Given the description of an element on the screen output the (x, y) to click on. 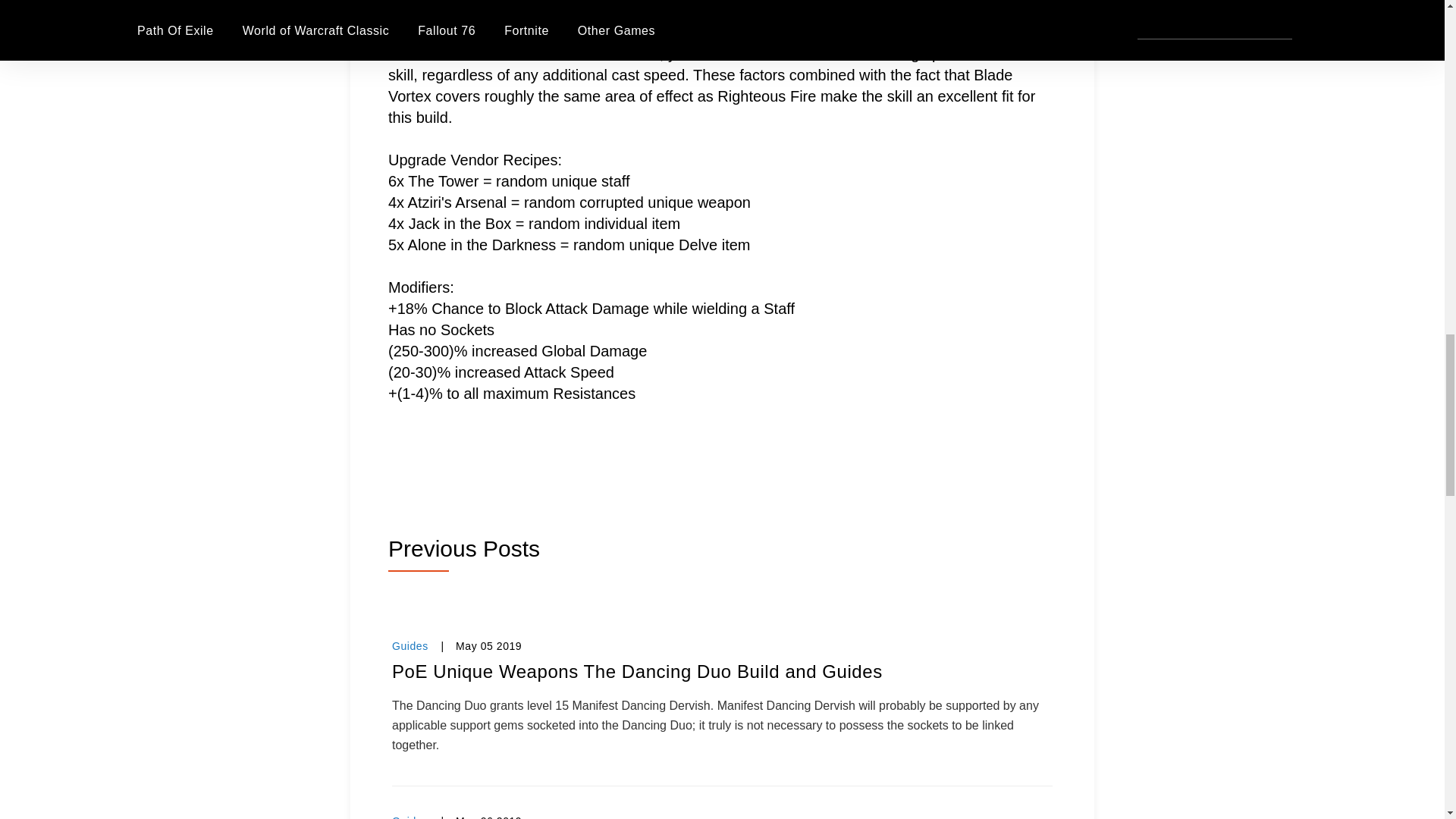
PoE Unique Weapons The Dancing Duo Build and Guides (721, 671)
Guides (409, 645)
Guides (409, 816)
